Given the description of an element on the screen output the (x, y) to click on. 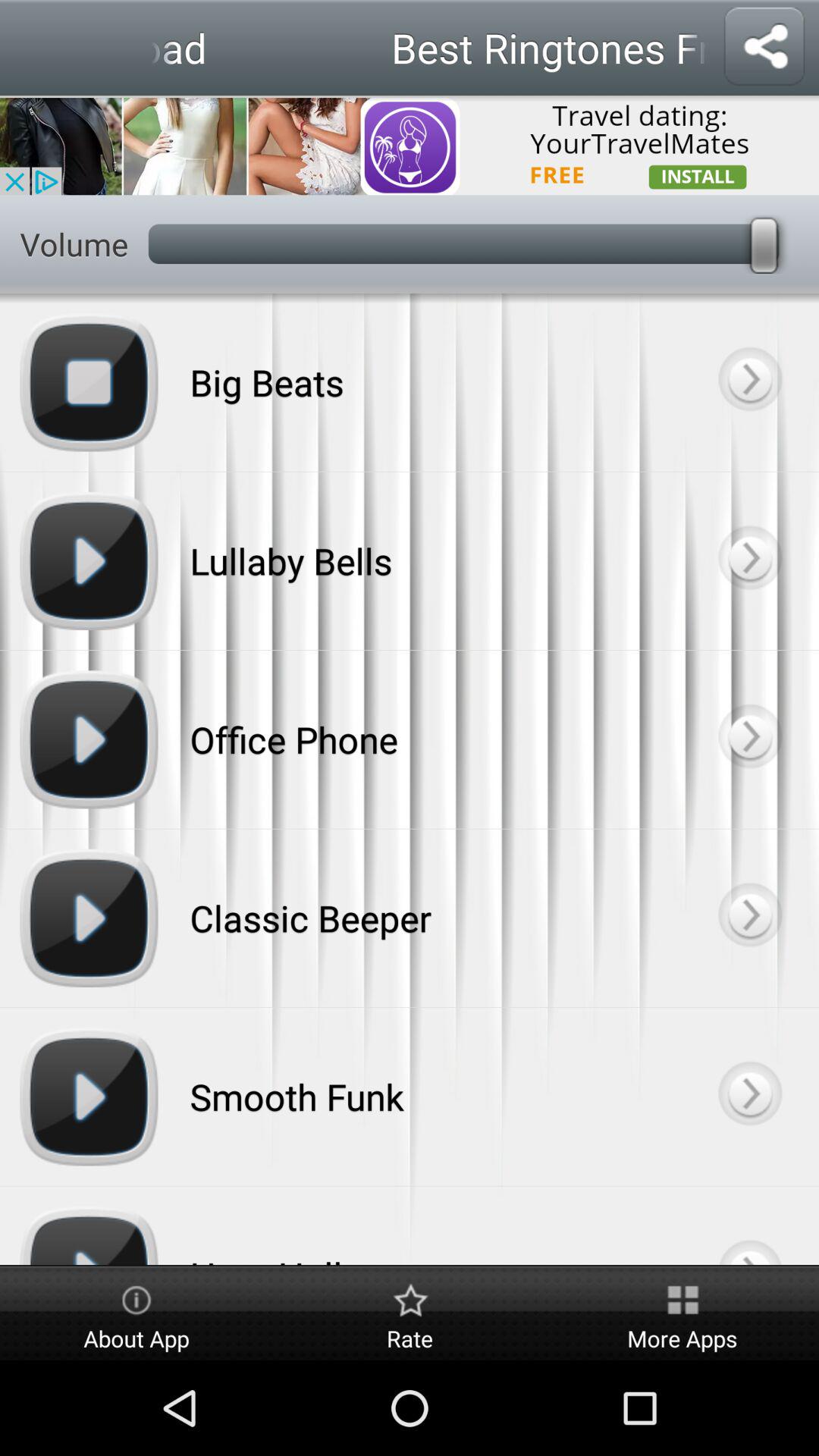
share option (764, 47)
